Given the description of an element on the screen output the (x, y) to click on. 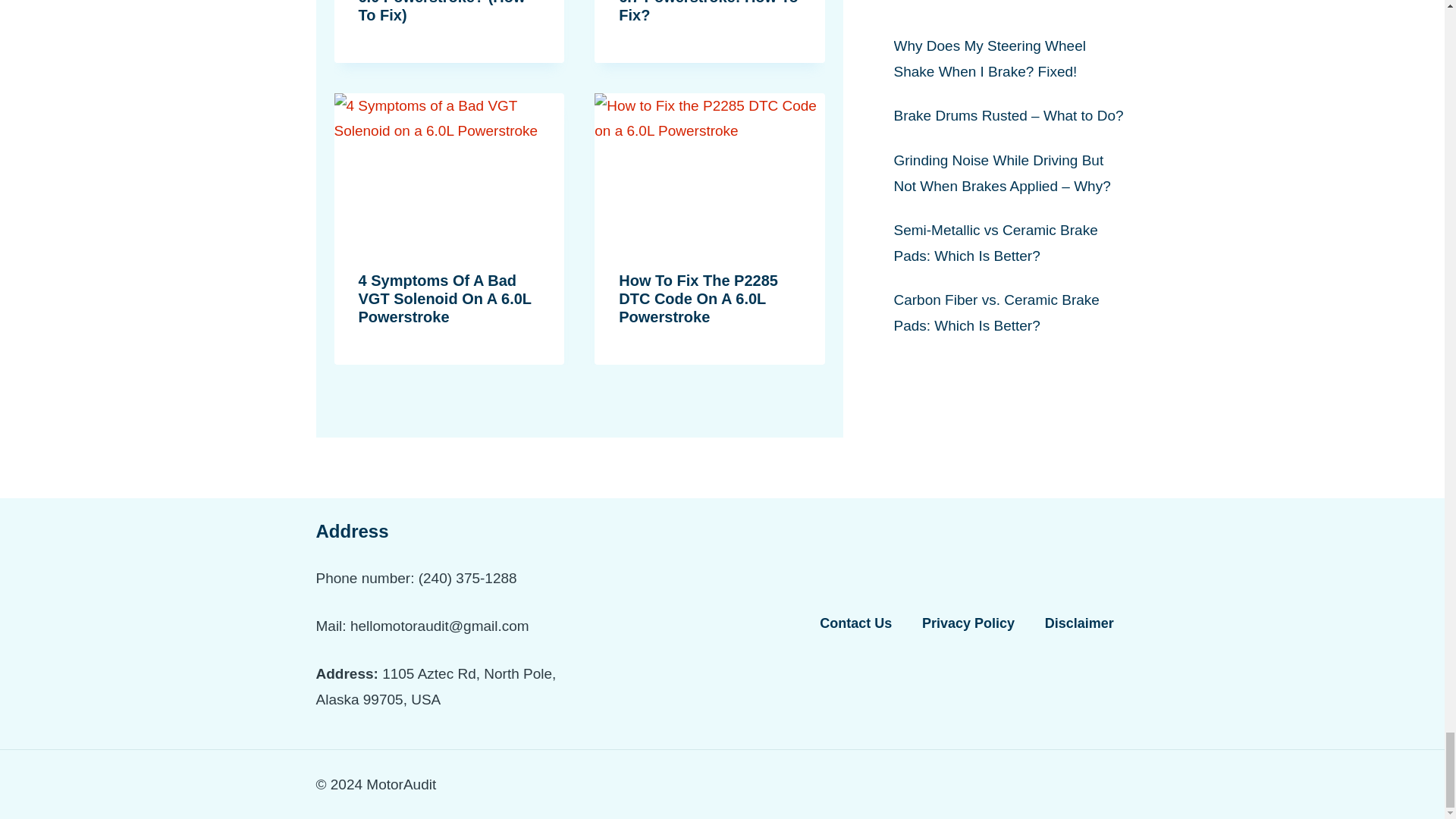
4 Symptoms Of A Bad VGT Solenoid On A 6.0L Powerstroke (444, 298)
What Is P20B9 Code On 6.7 Powerstroke: How To Fix? (707, 11)
How To Fix The P2285 DTC Code On A 6.0L Powerstroke (697, 298)
